Given the description of an element on the screen output the (x, y) to click on. 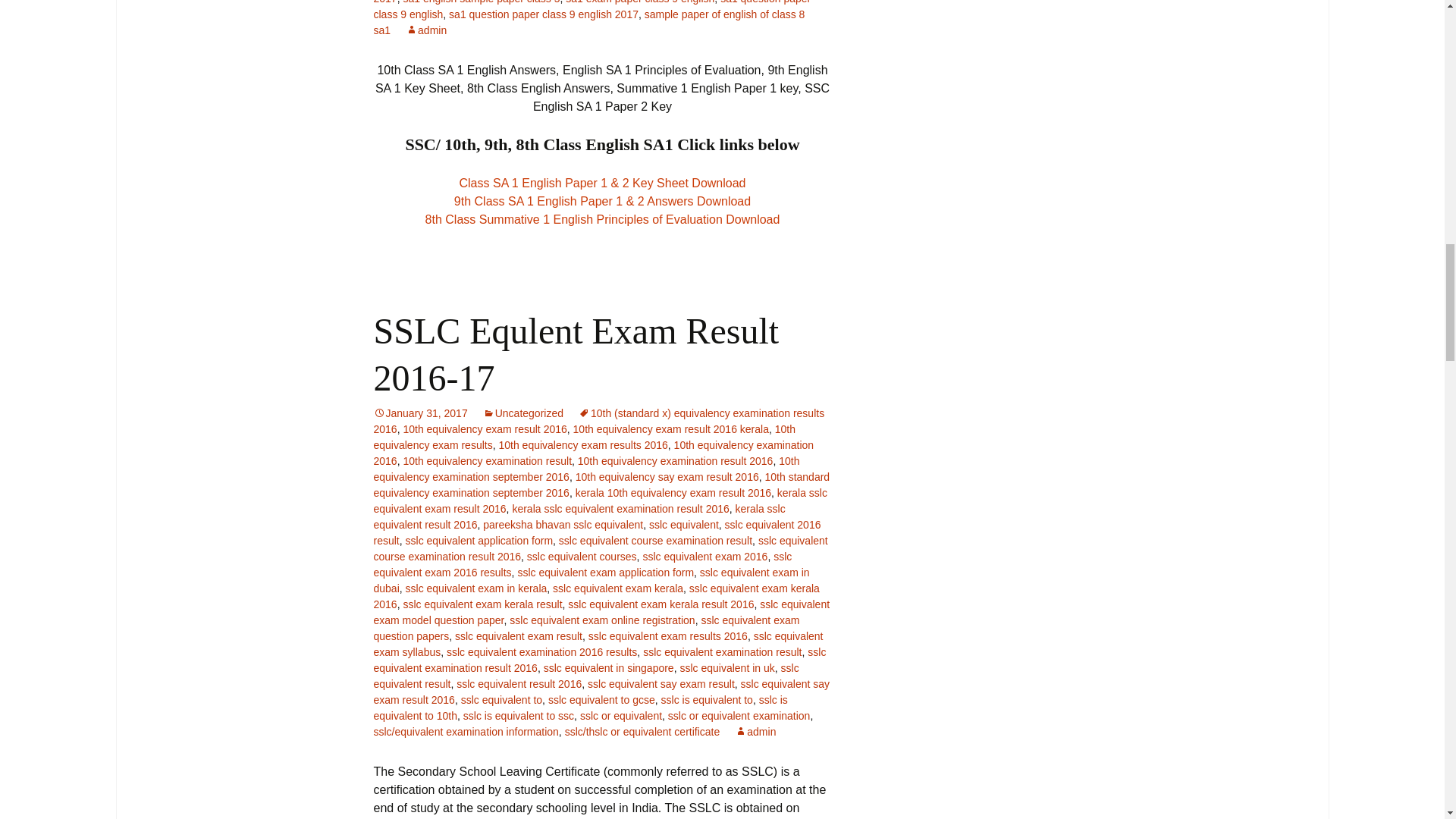
View all posts by admin (426, 30)
Permalink to SSLC Equlent Exam Result 2016-17 (419, 413)
View all posts by admin (755, 731)
